Given the description of an element on the screen output the (x, y) to click on. 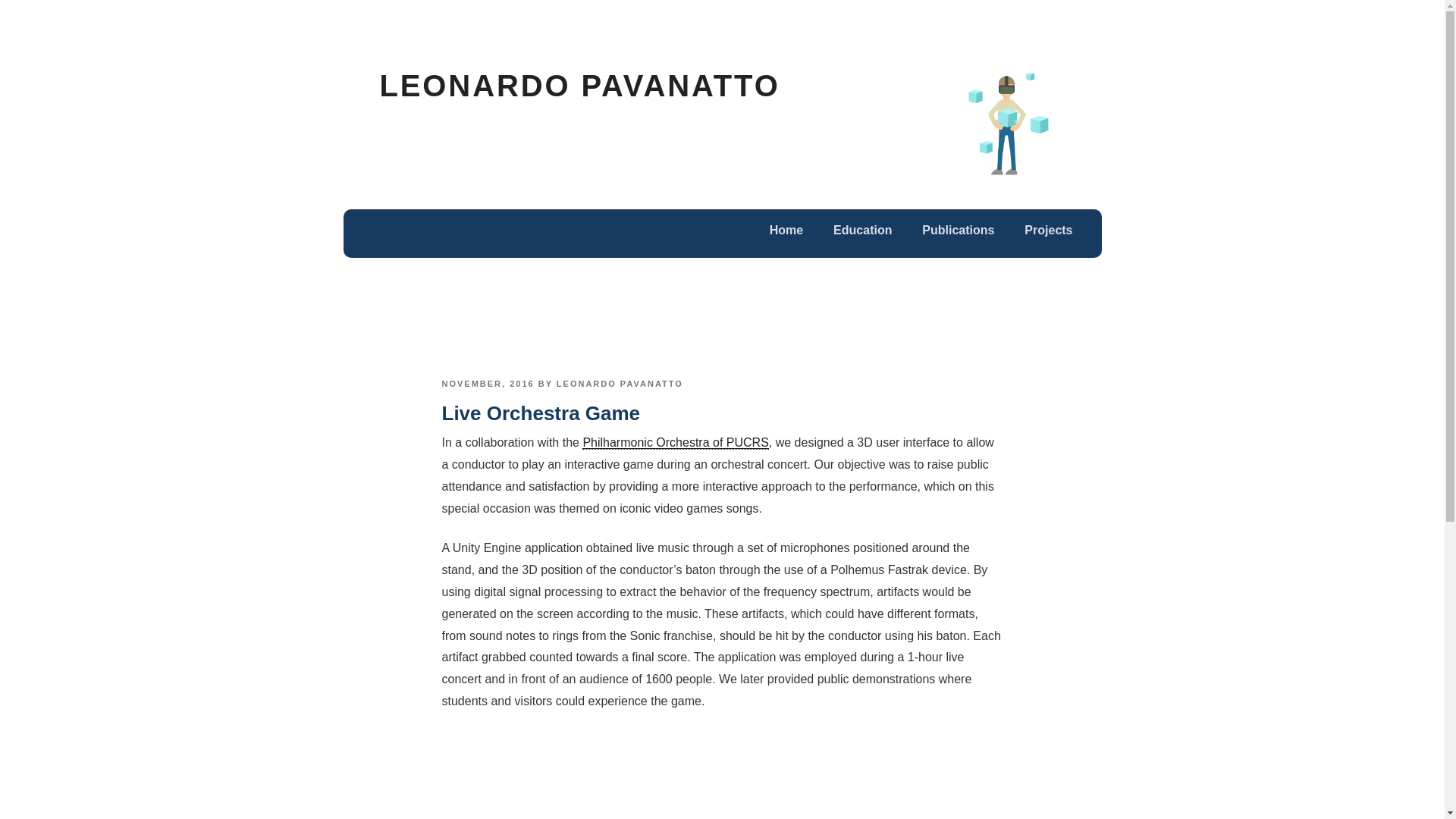
Projects (1048, 230)
Music Game (722, 775)
Philharmonic Orchestra of PUCRS (675, 442)
Publications (958, 230)
LEONARDO PAVANATTO (619, 383)
LEONARDO PAVANATTO (578, 85)
Education (862, 230)
NOVEMBER, 2016 (487, 383)
Home (786, 230)
